Given the description of an element on the screen output the (x, y) to click on. 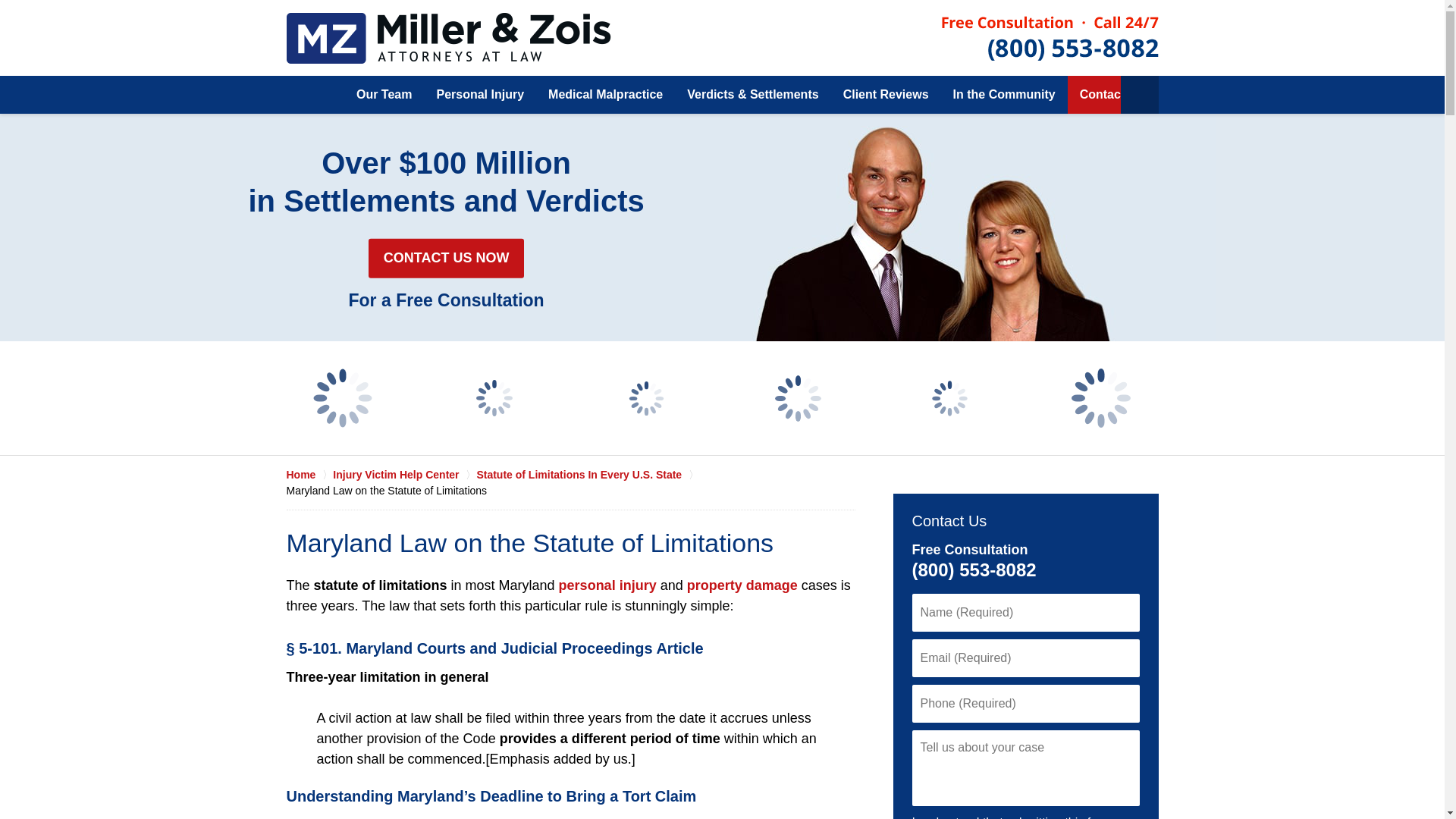
In the Community (1003, 94)
Contact Us (1111, 94)
Personal Injury (479, 94)
Maryland Personal Injury Lawyers (448, 37)
Our Team (384, 94)
Statute of Limitations In Every U.S. State (587, 474)
Home (314, 94)
Home (309, 474)
Injury Victim Help Center (404, 474)
Medical Malpractice (605, 94)
Client Reviews (885, 94)
CONTACT US NOW (446, 258)
